Given the description of an element on the screen output the (x, y) to click on. 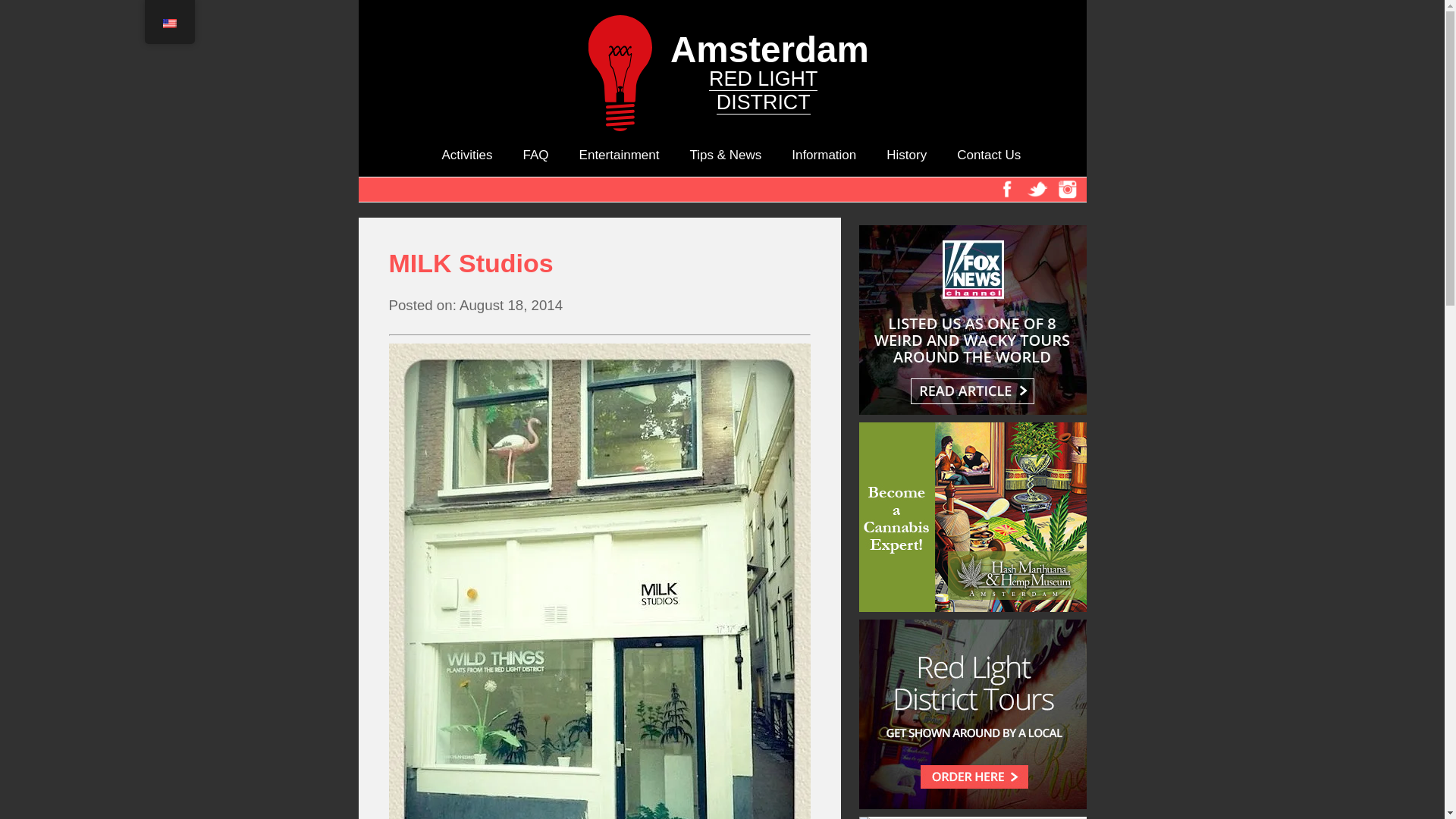
FAQ (535, 155)
Contact Us (988, 155)
Activities (466, 155)
History (906, 155)
English (168, 22)
Entertainment (619, 155)
MILK Studios (598, 263)
Information (722, 7)
